Given the description of an element on the screen output the (x, y) to click on. 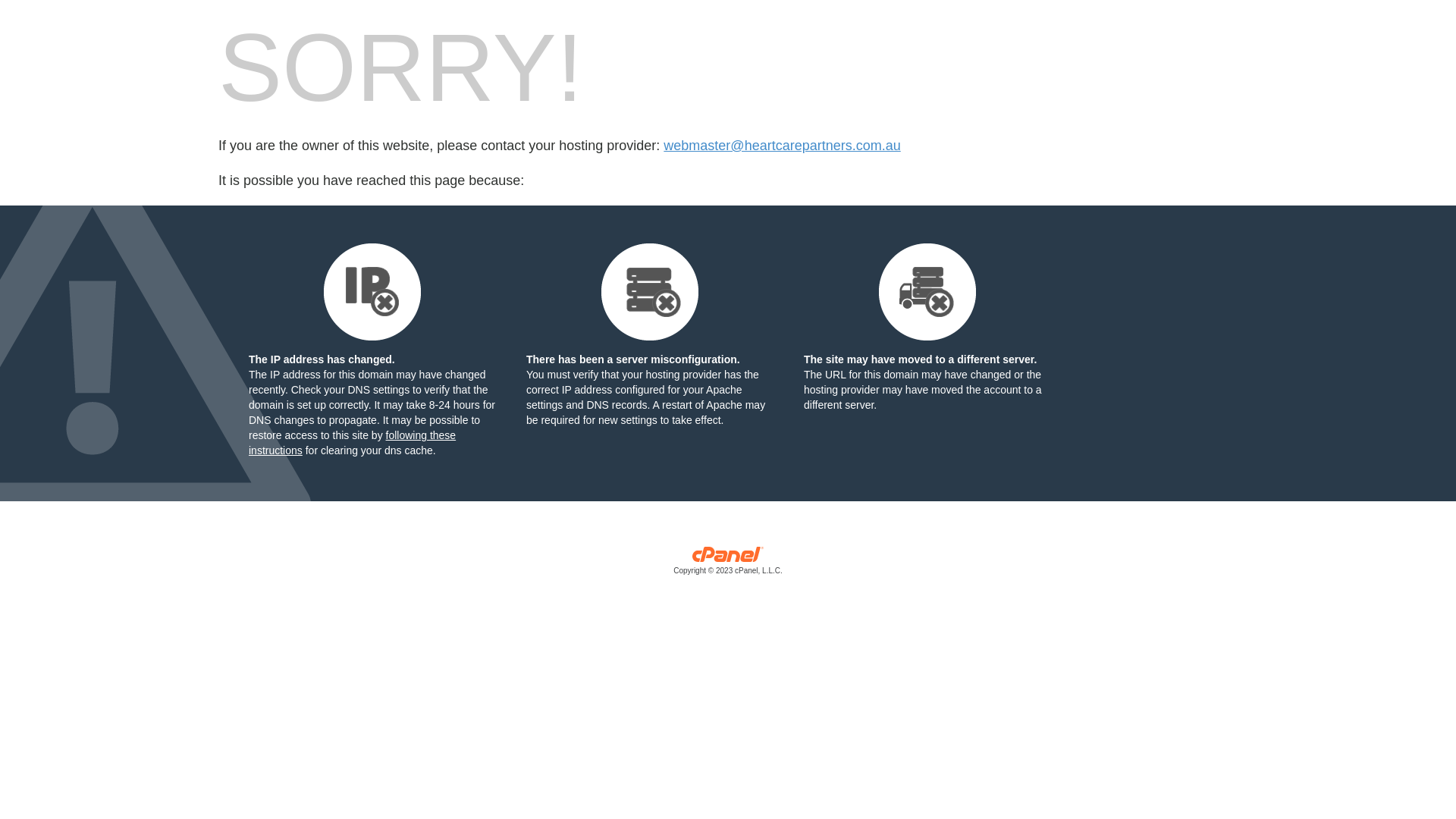
following these instructions Element type: text (351, 442)
webmaster@heartcarepartners.com.au Element type: text (781, 145)
